Given the description of an element on the screen output the (x, y) to click on. 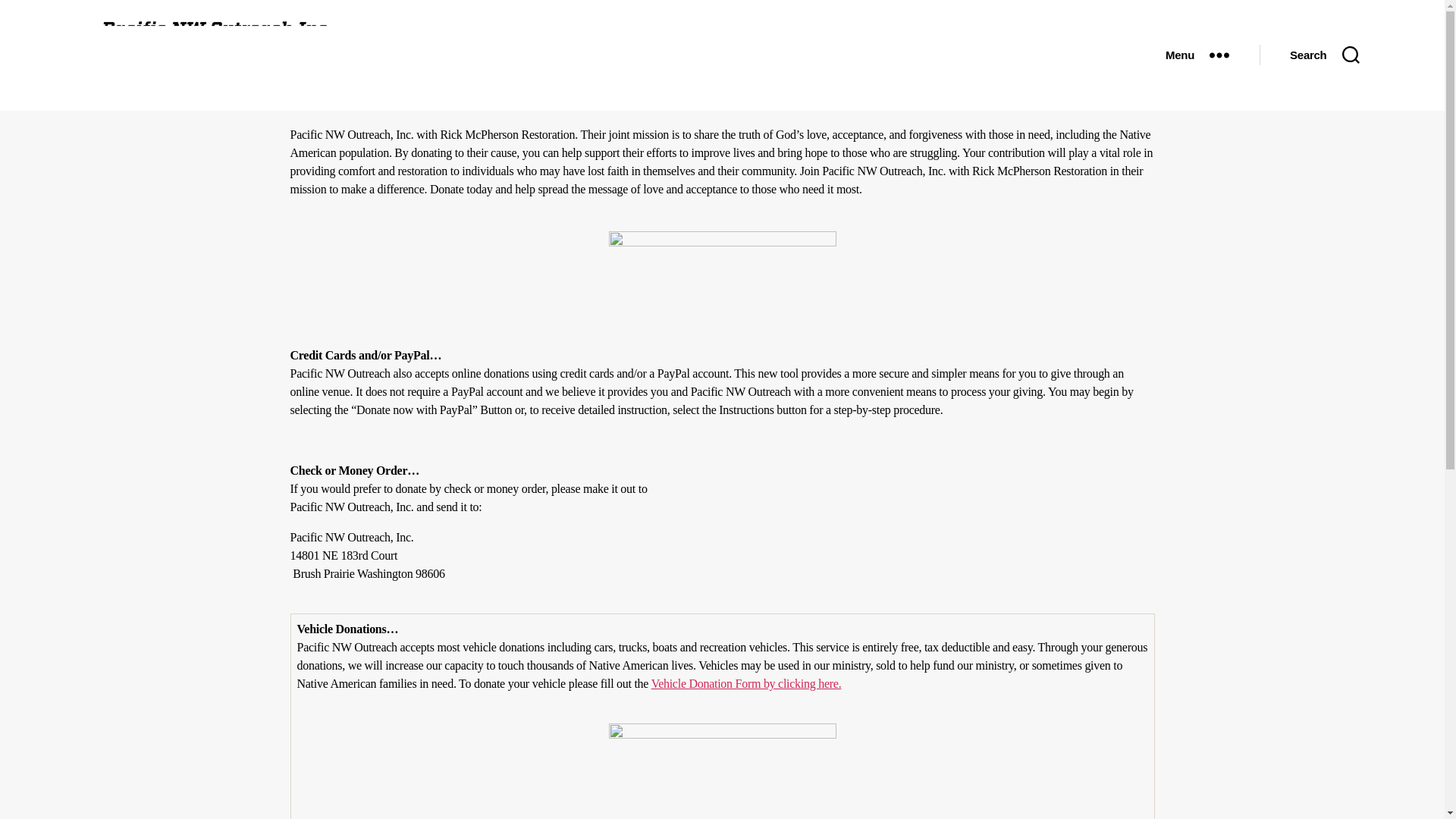
Search (1324, 55)
Menu (1197, 55)
Vehicle Donation Form by clicking here. (745, 683)
